Given the description of an element on the screen output the (x, y) to click on. 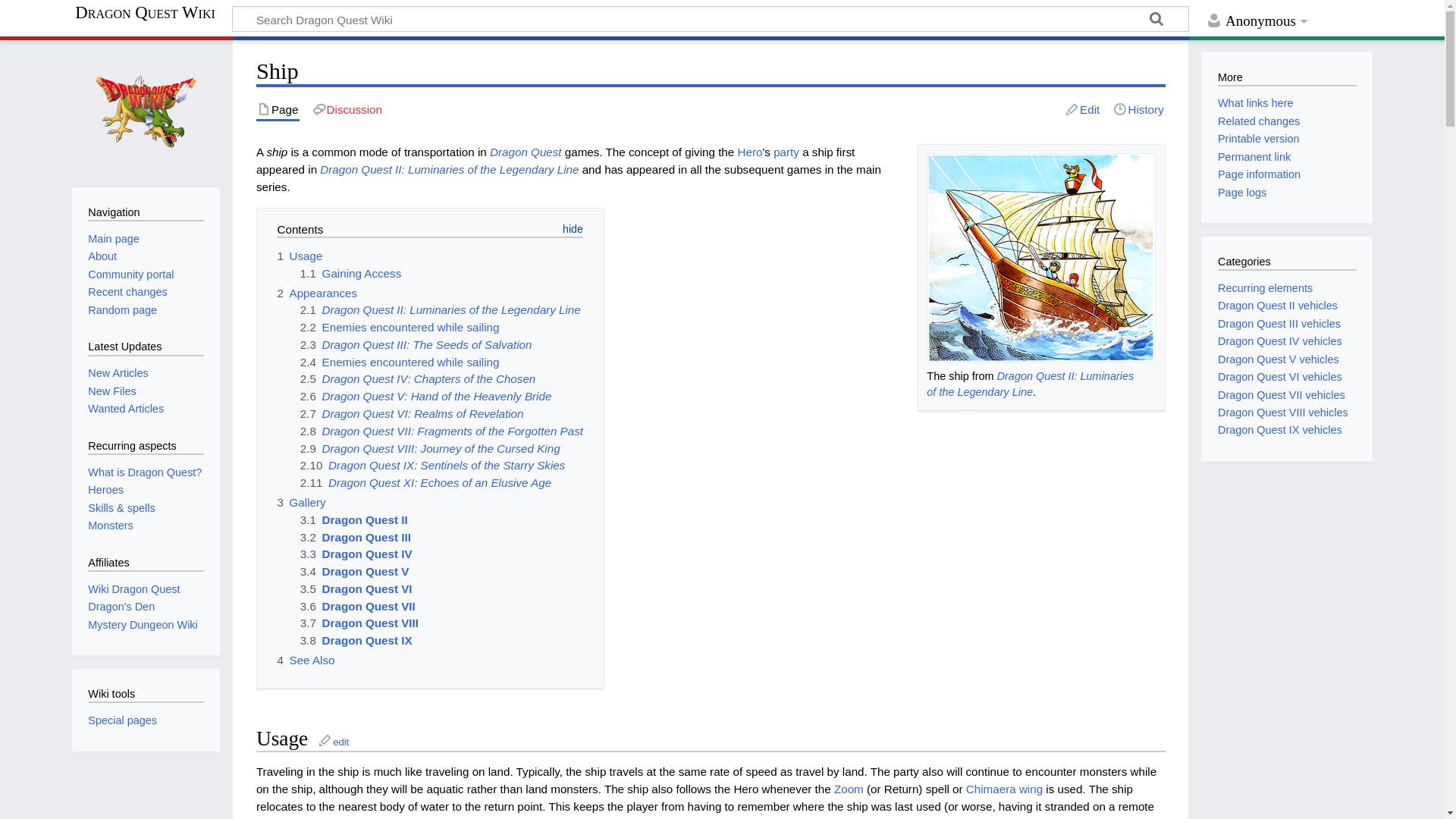
Search (1155, 21)
2.9 Dragon Quest VIII: Journey of the Cursed King (429, 448)
2.3 Dragon Quest III: The Seeds of Salvation (415, 344)
2.5 Dragon Quest IV: Chapters of the Chosen (417, 378)
2.11 Dragon Quest XI: Echoes of an Elusive Age (425, 481)
Search (1155, 21)
Enlarge (1148, 376)
Dragon Quest Wiki (151, 12)
Dragon Quest II: Luminaries of the Legendary Line (449, 169)
2.7 Dragon Quest VI: Realms of Revelation (411, 413)
3.5 Dragon Quest VI (355, 588)
Dragon Quest (525, 151)
3.1 Dragon Quest II (353, 519)
3.3 Dragon Quest IV (355, 553)
3 Gallery (300, 502)
